Given the description of an element on the screen output the (x, y) to click on. 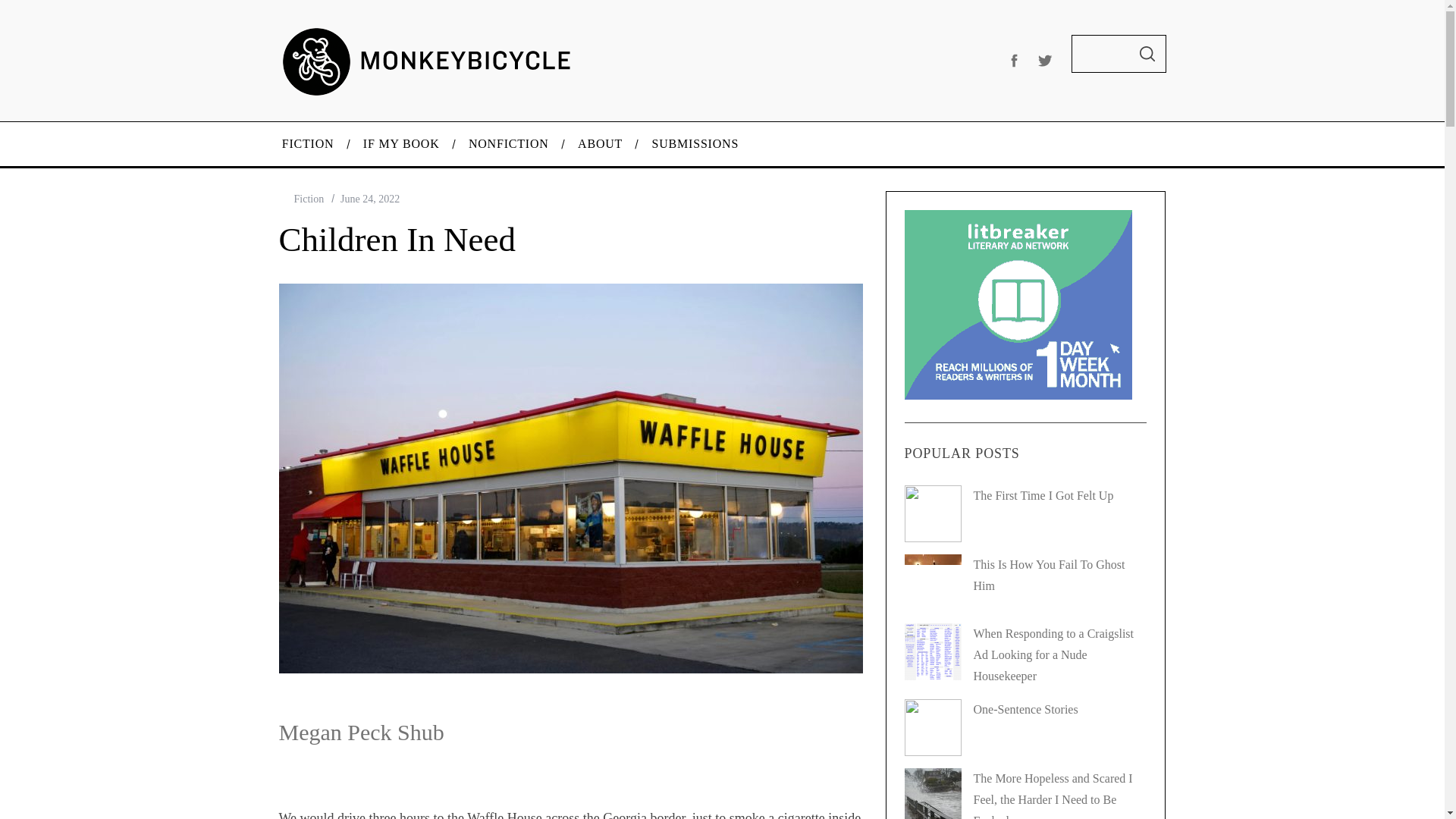
NONFICTION (508, 144)
IF MY BOOK (401, 144)
FICTION (306, 144)
Fiction (309, 198)
Megan Peck Shub (361, 731)
SUBMISSIONS (694, 144)
ABOUT (600, 144)
SEARCH (1147, 53)
The First Time I Got Felt Up (1043, 495)
